Given the description of an element on the screen output the (x, y) to click on. 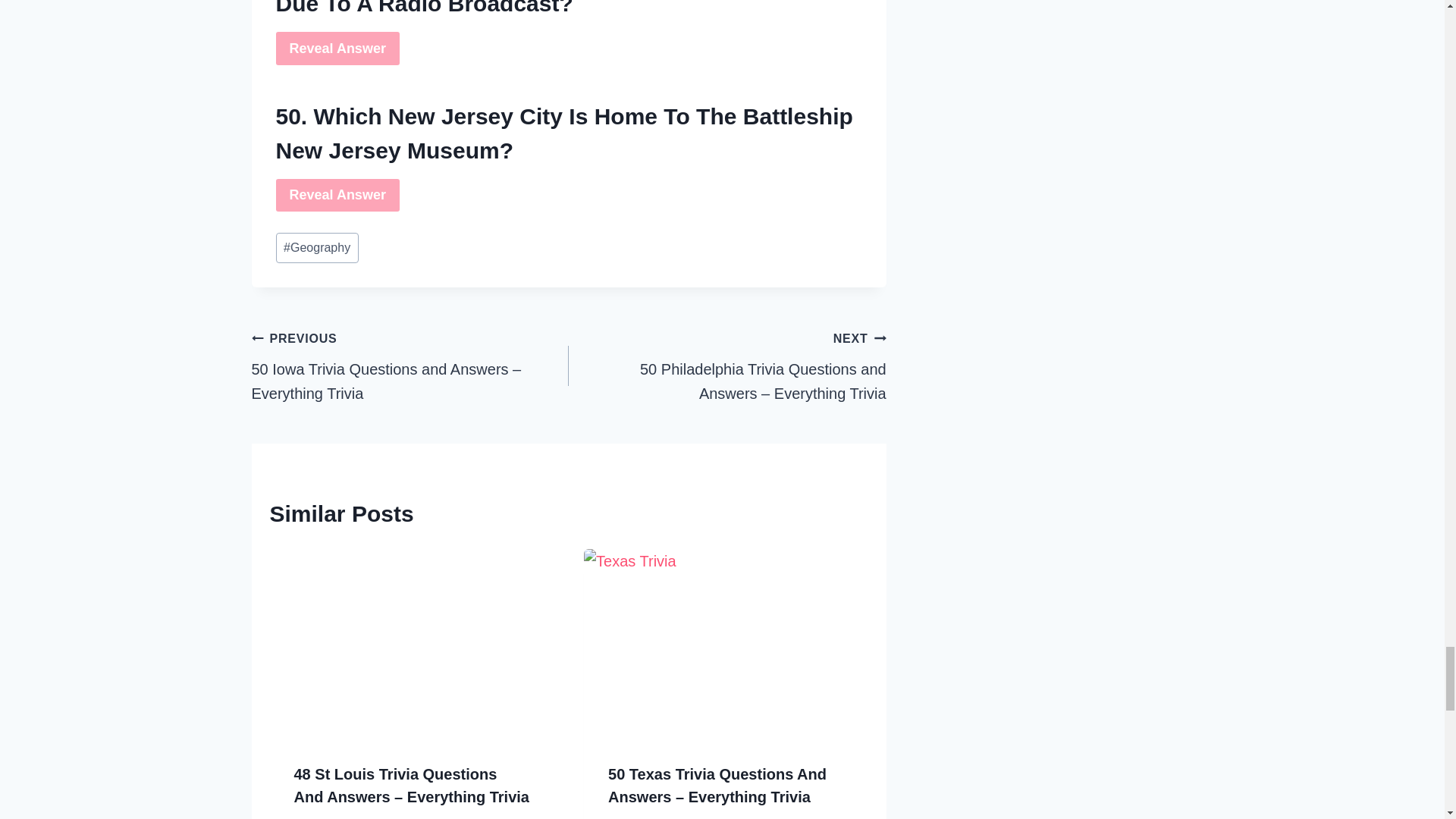
Geography (317, 247)
